Given the description of an element on the screen output the (x, y) to click on. 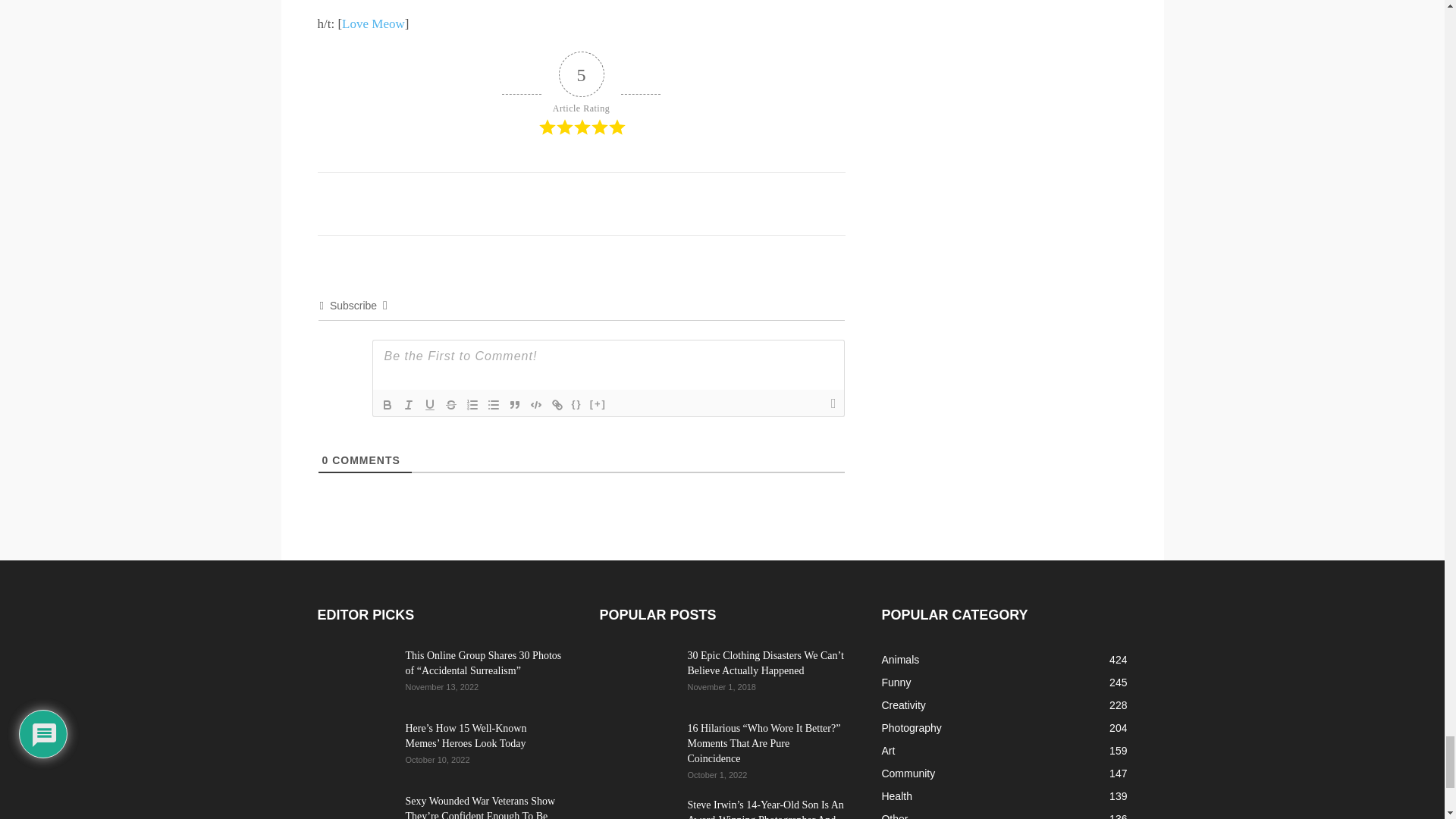
Love Meow (373, 23)
